Given the description of an element on the screen output the (x, y) to click on. 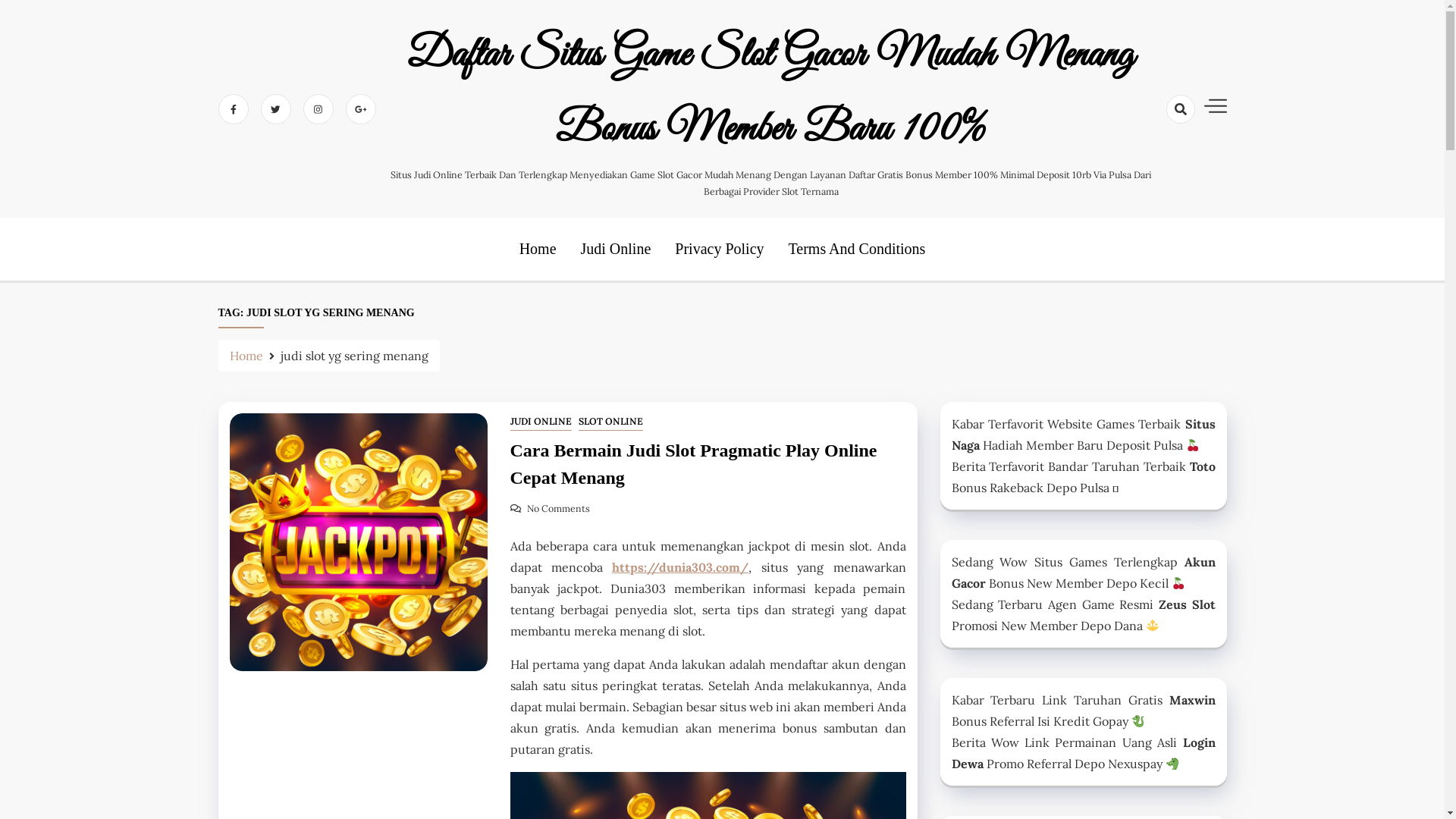
Toto Element type: text (1201, 465)
Akun Gacor Element type: text (1082, 572)
Zeus Slot Element type: text (1186, 603)
Home Element type: text (245, 355)
Situs Naga Element type: text (1082, 434)
SLOT ONLINE Element type: text (610, 421)
Maxwin Element type: text (1192, 699)
JUDI ONLINE Element type: text (540, 421)
Terms And Conditions Element type: text (856, 248)
Judi Online Element type: text (615, 248)
https://dunia303.com/ Element type: text (679, 566)
Privacy Policy Element type: text (718, 248)
No Comments Element type: text (549, 508)
Cara Bermain Judi Slot Pragmatic Play Online Cepat Menang Element type: text (707, 465)
Login Dewa Element type: text (1082, 752)
Home Element type: text (537, 248)
